Given the description of an element on the screen output the (x, y) to click on. 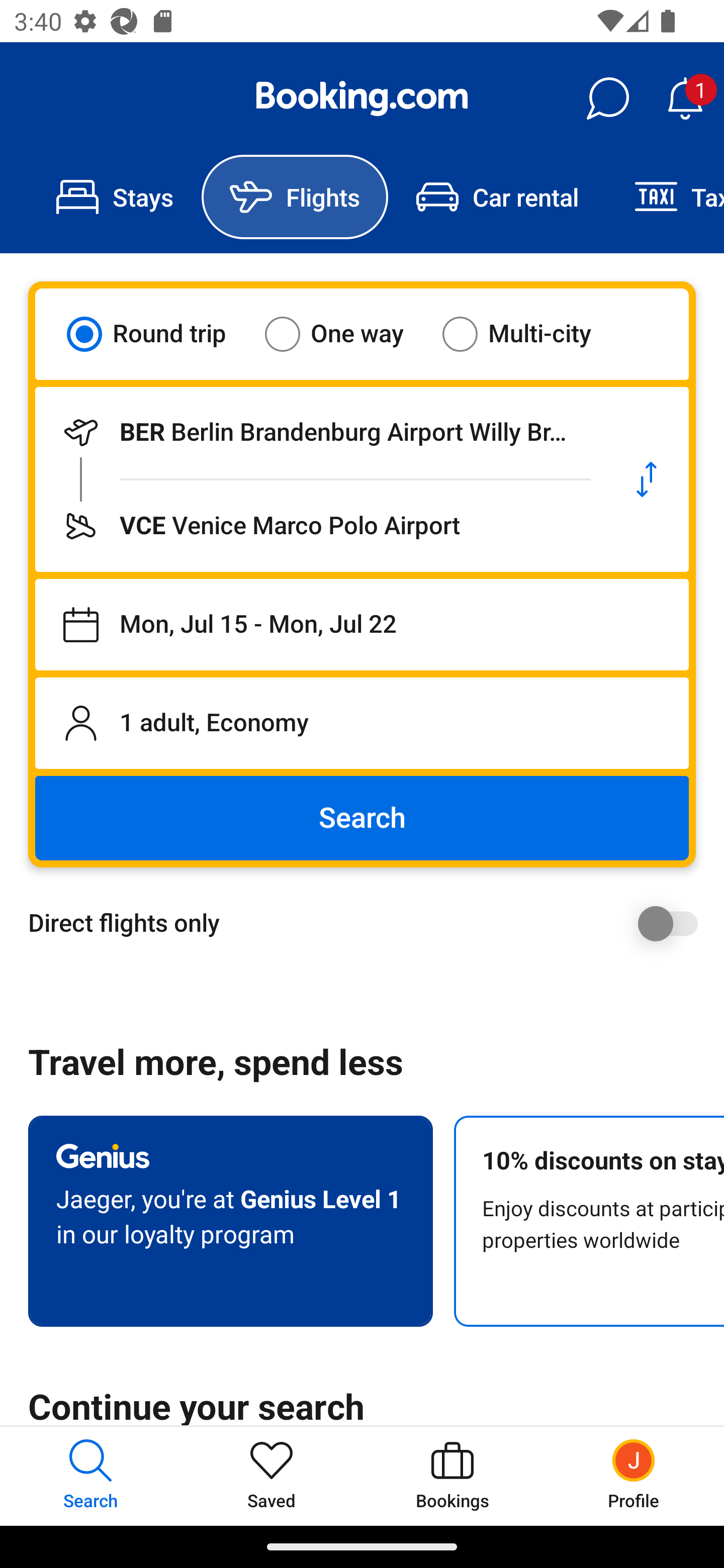
Messages (607, 98)
Notifications (685, 98)
Stays (114, 197)
Flights (294, 197)
Car rental (497, 197)
Taxi (665, 197)
One way (346, 333)
Multi-city (528, 333)
Swap departure location and destination (646, 479)
Flying to VCE Venice Marco Polo Airport (319, 525)
Departing on Mon, Jul 15, returning on Mon, Jul 22 (361, 624)
1 adult, Economy (361, 722)
Search (361, 818)
Direct flights only (369, 923)
Saved (271, 1475)
Bookings (452, 1475)
Profile (633, 1475)
